Given the description of an element on the screen output the (x, y) to click on. 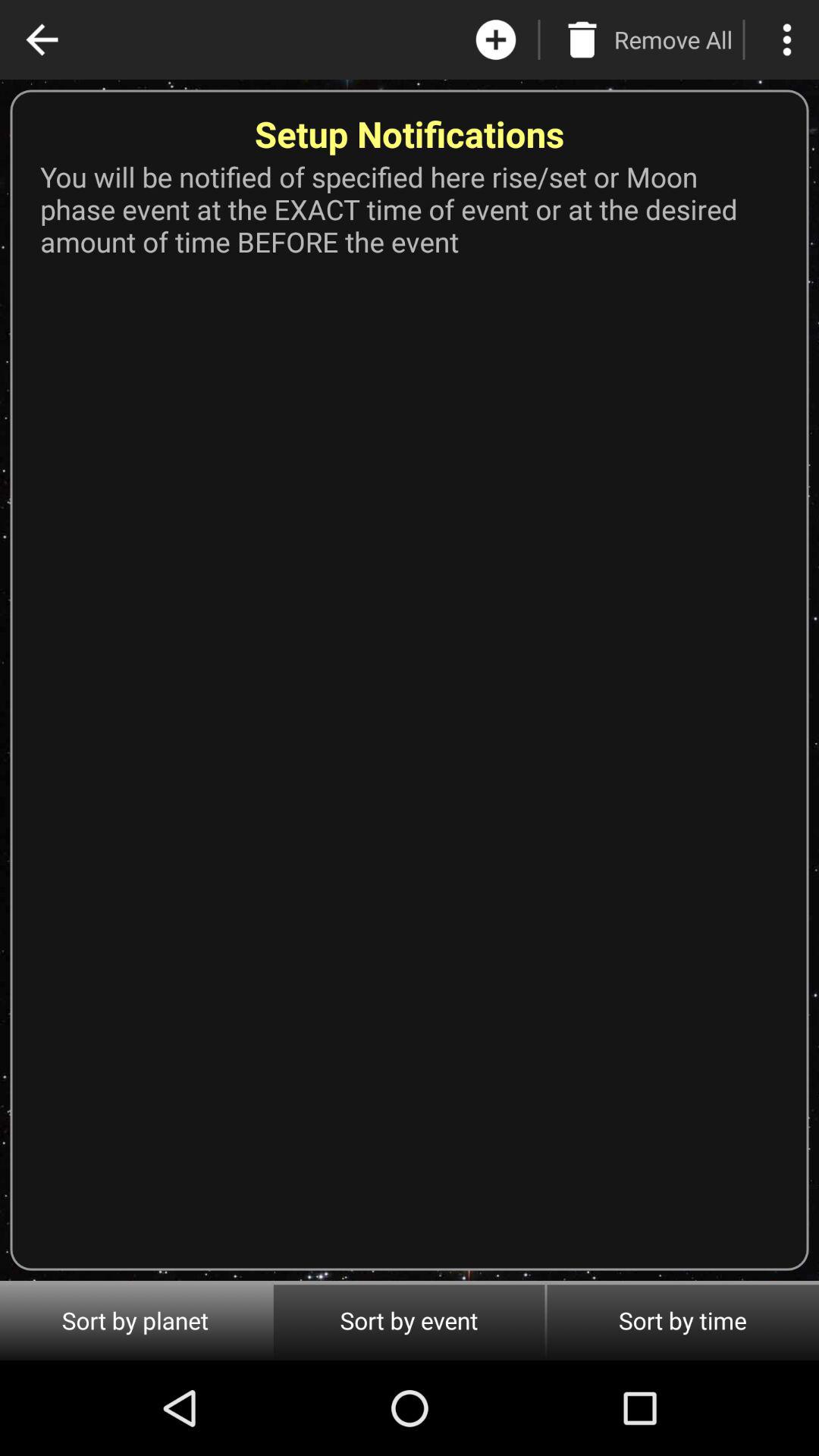
launch app above you will be item (673, 39)
